Given the description of an element on the screen output the (x, y) to click on. 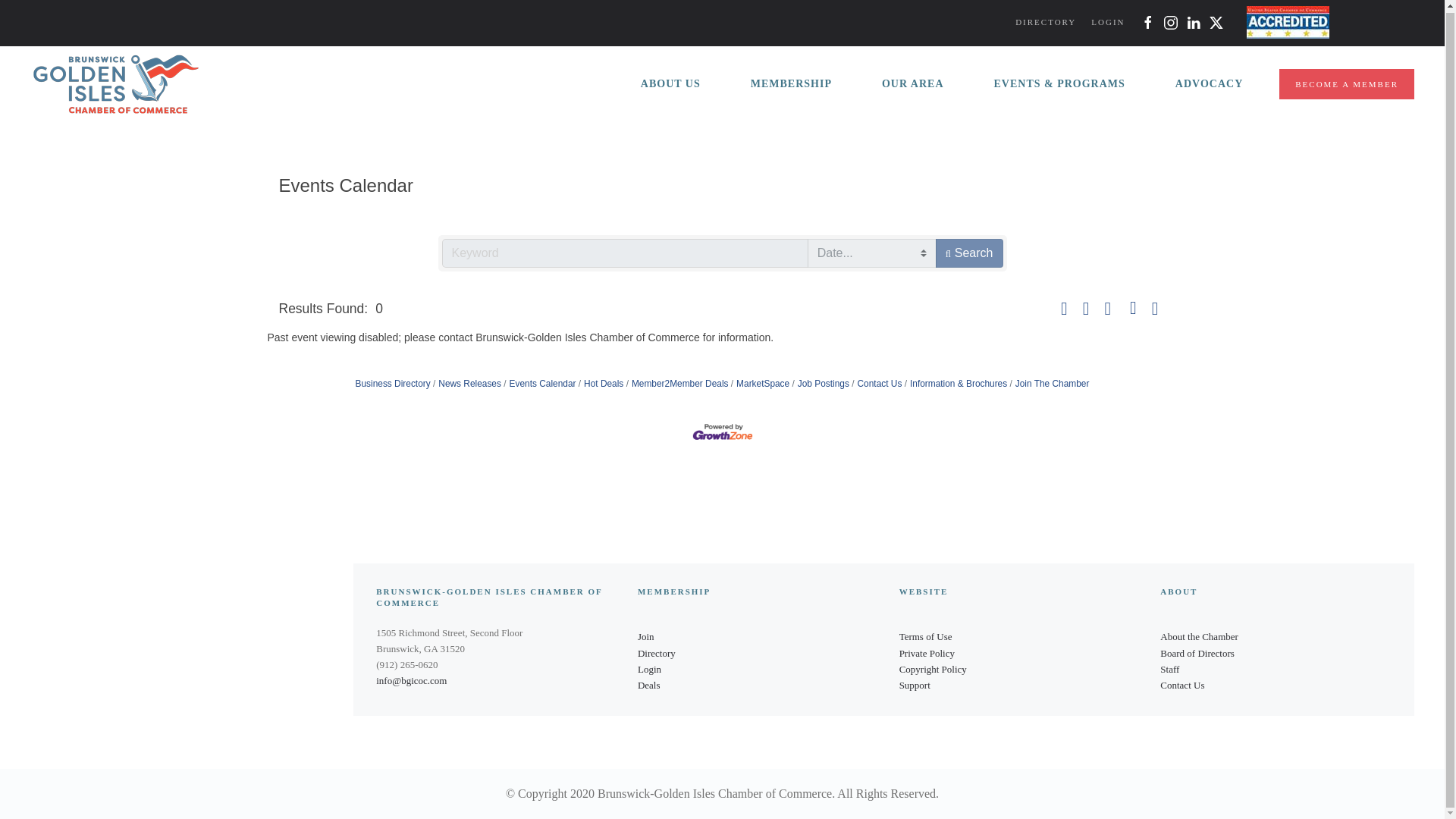
MEMBERSHIP (790, 84)
Search (969, 253)
ABOUT US (670, 84)
DIRECTORY (1044, 22)
LOGIN (1107, 22)
